Given the description of an element on the screen output the (x, y) to click on. 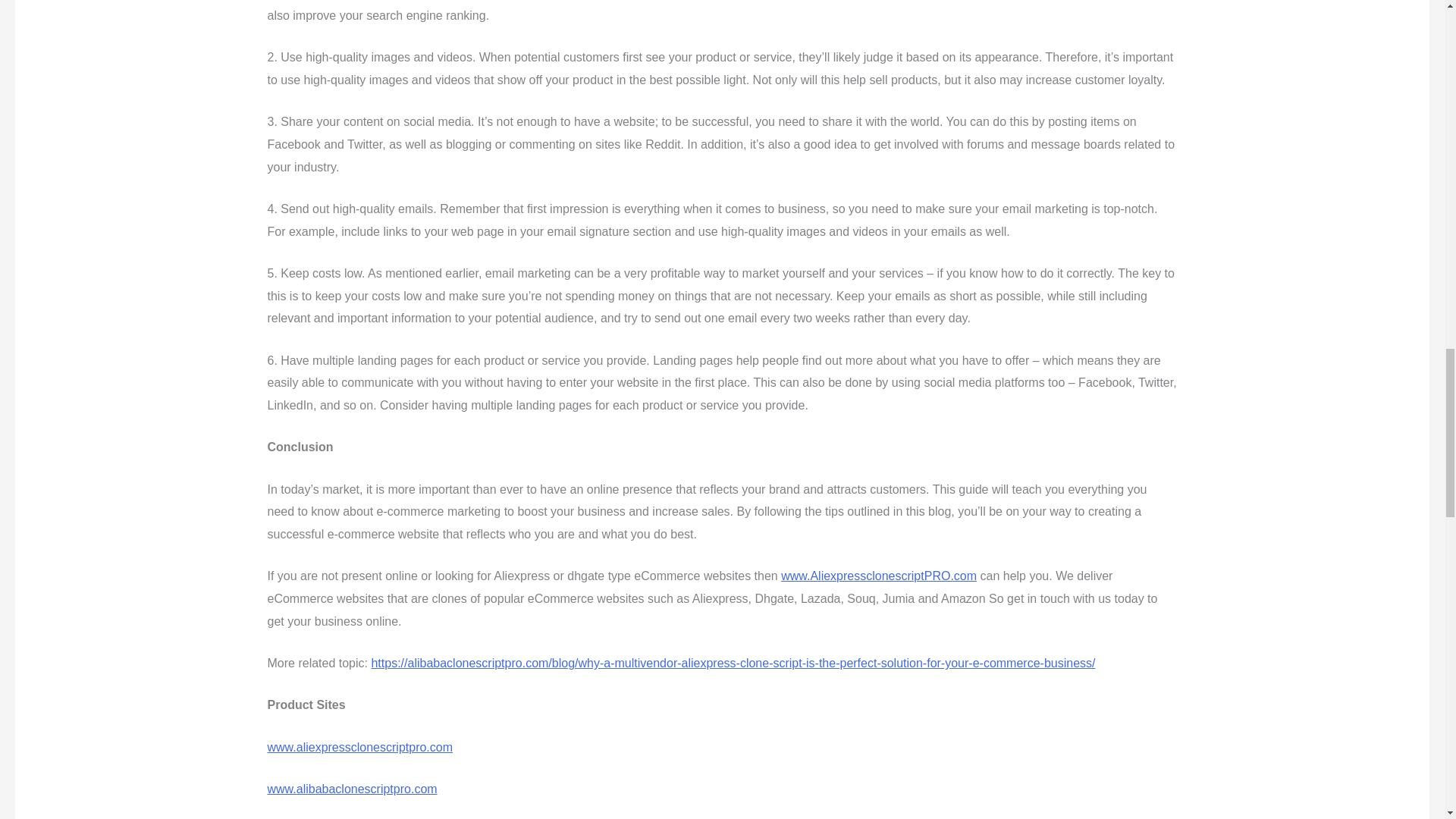
www.alibabaclonescriptpro.com (351, 788)
www.AliexpressclonescriptPRO.com (878, 575)
www.aliexpressclonescriptpro.com (359, 747)
